Given the description of an element on the screen output the (x, y) to click on. 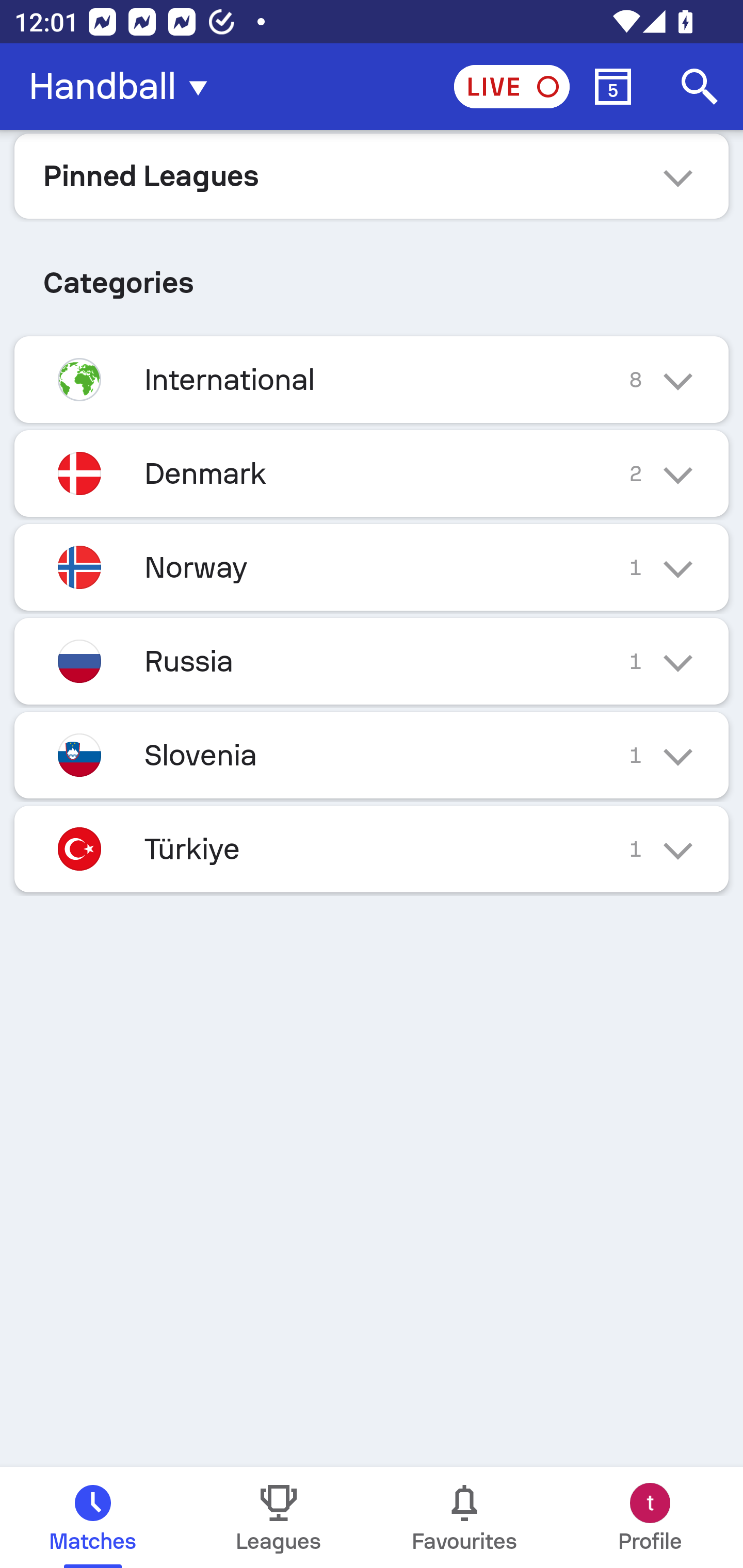
Handball (124, 86)
Calendar (612, 86)
Search (699, 86)
Pinned Leagues (371, 175)
Categories (371, 275)
International 8 (371, 379)
Denmark 2 (371, 473)
Norway 1 (371, 566)
Russia 1 (371, 660)
Slovenia 1 (371, 754)
Türkiye 1 (371, 848)
Leagues (278, 1517)
Favourites (464, 1517)
Profile (650, 1517)
